Given the description of an element on the screen output the (x, y) to click on. 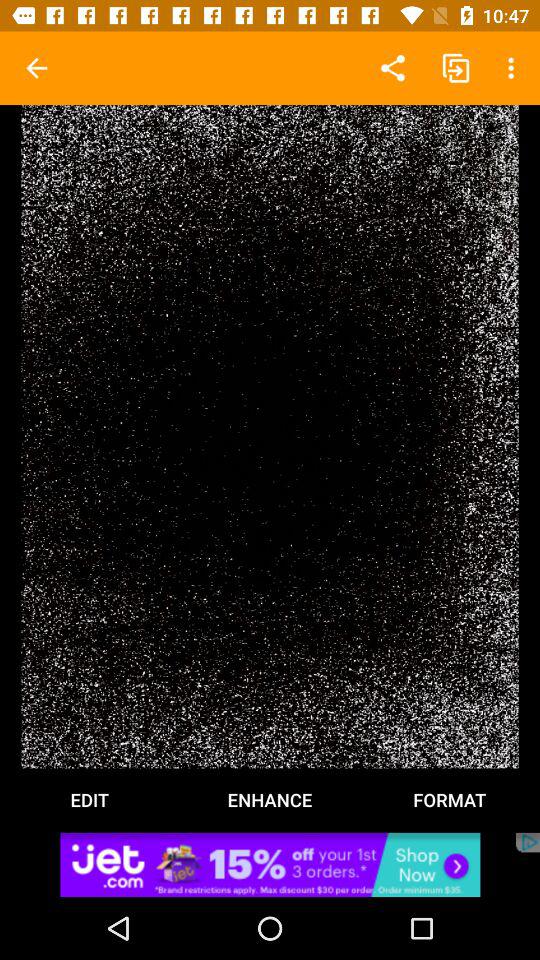
click on advertisement (270, 864)
